Given the description of an element on the screen output the (x, y) to click on. 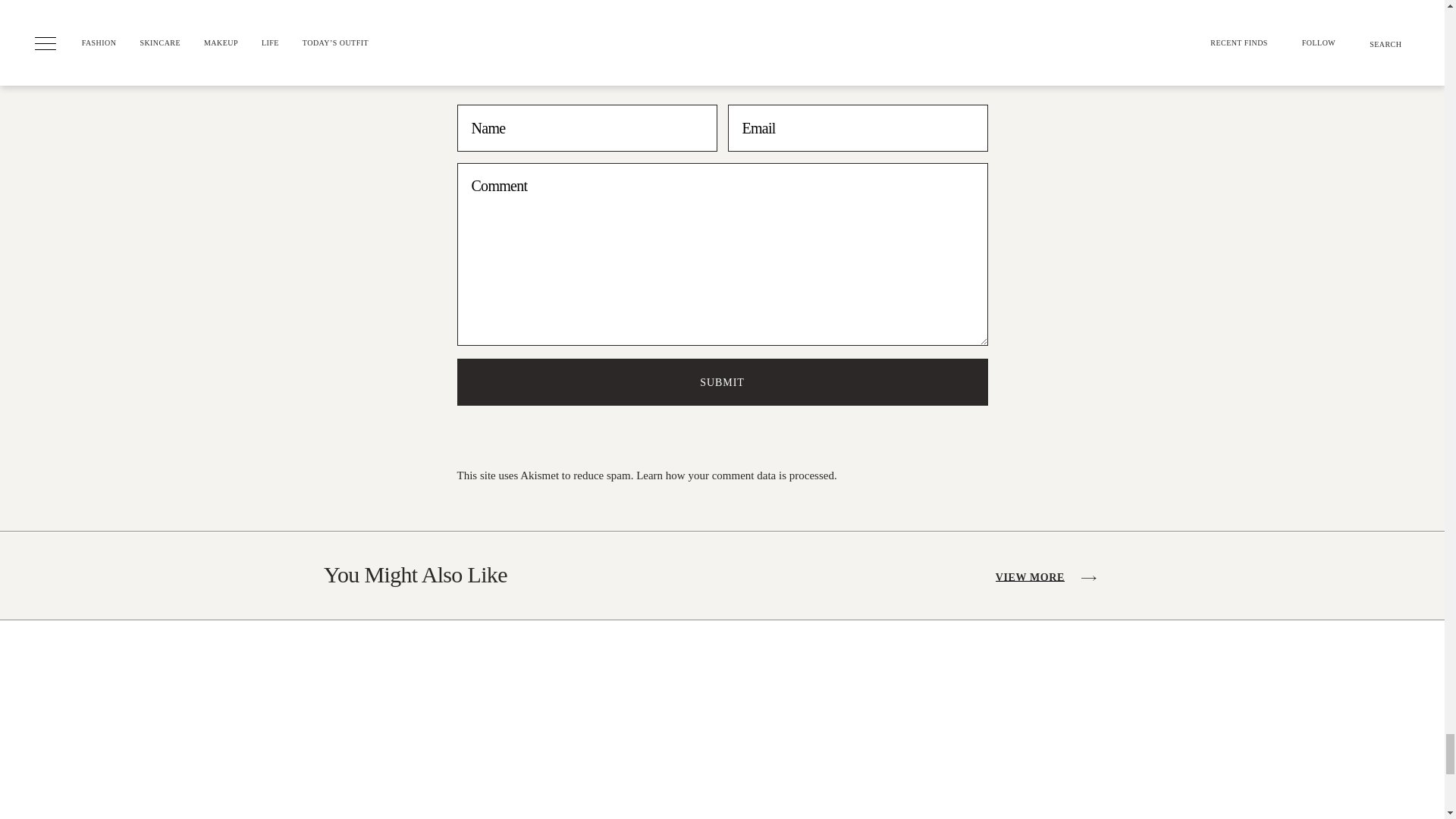
Submit (722, 381)
